Given the description of an element on the screen output the (x, y) to click on. 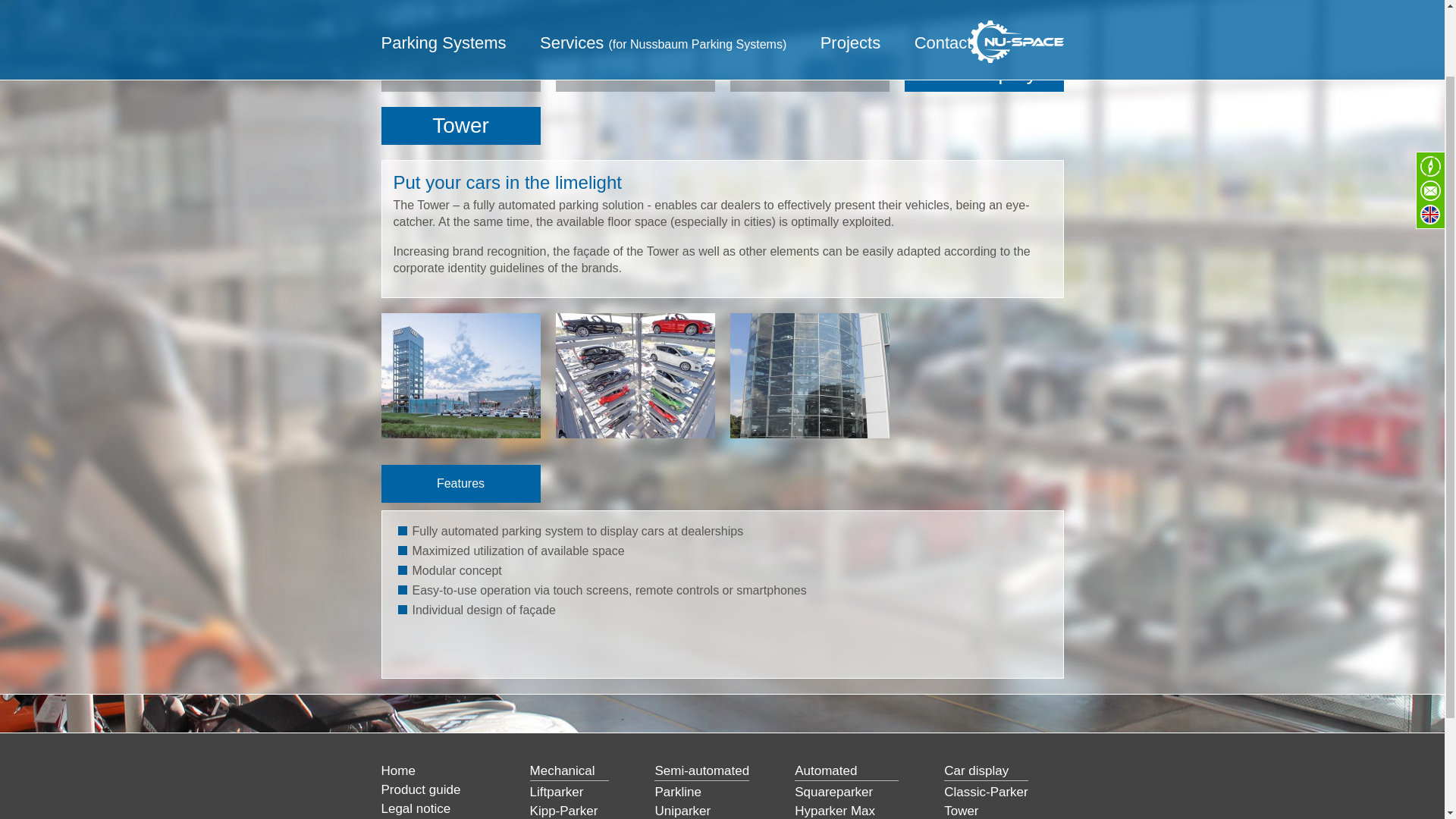
Classic-Parker (985, 791)
Car display (983, 72)
en (1430, 130)
Mechanical (460, 72)
Semi-automated (634, 72)
Automated (808, 72)
Parkline (676, 791)
Tower (960, 810)
Legal notice (414, 808)
Squareparker (833, 791)
Tower (460, 125)
Hyparker Max (834, 810)
Home (397, 770)
Uniparker (681, 810)
Features (460, 483)
